Given the description of an element on the screen output the (x, y) to click on. 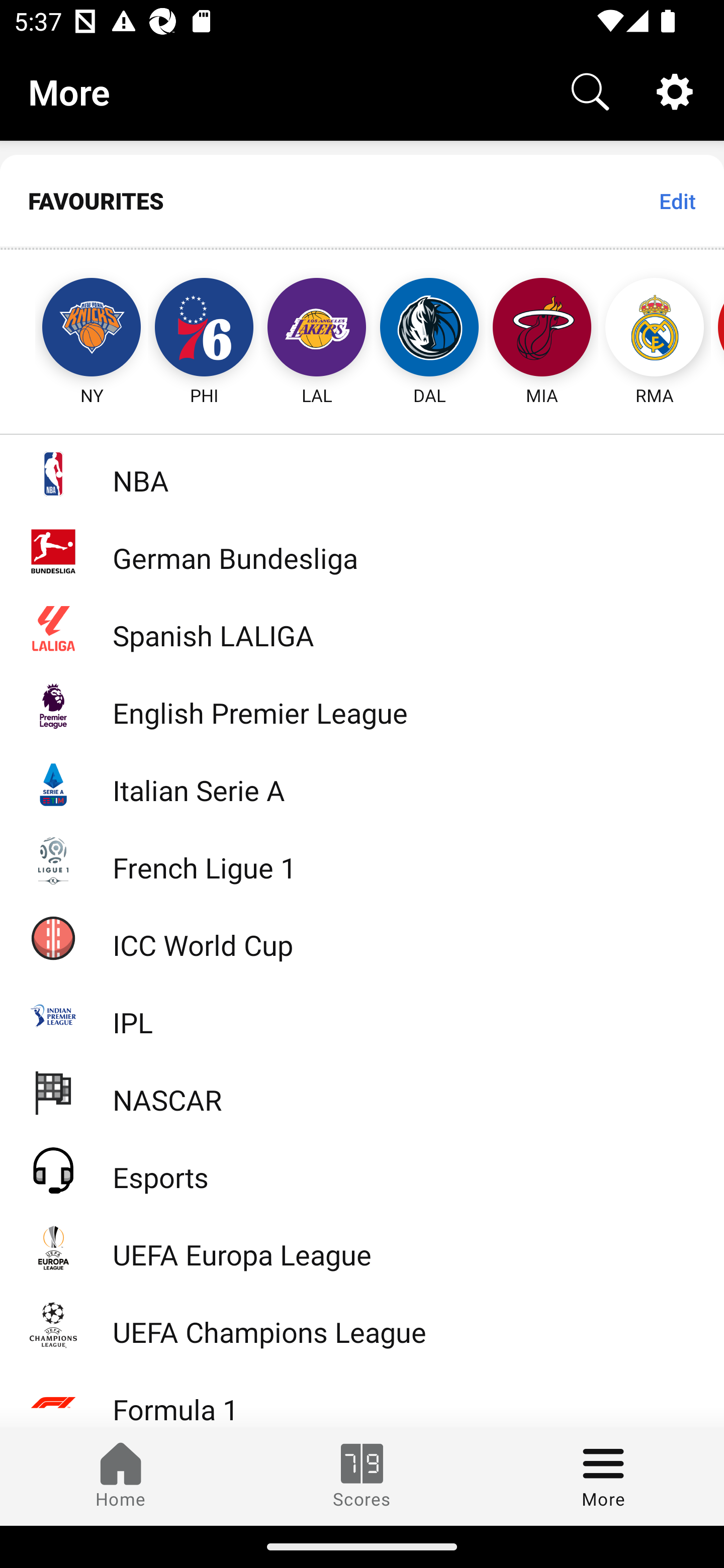
Search (590, 90)
Settings (674, 90)
Edit (676, 200)
NY New York Knicks (73, 328)
PHI Philadelphia 76ers (203, 328)
LAL Los Angeles Lakers (316, 328)
DAL Dallas Mavericks (428, 328)
MIA Miami Heat (541, 328)
RMA Real Madrid (654, 328)
NBA (362, 473)
German Bundesliga (362, 550)
Spanish LALIGA (362, 627)
English Premier League (362, 705)
Italian Serie A (362, 782)
French Ligue 1 (362, 859)
ICC World Cup (362, 937)
IPL (362, 1014)
NASCAR (362, 1091)
Esports (362, 1169)
UEFA Europa League (362, 1246)
UEFA Champions League (362, 1324)
Home (120, 1475)
Scores (361, 1475)
